Given the description of an element on the screen output the (x, y) to click on. 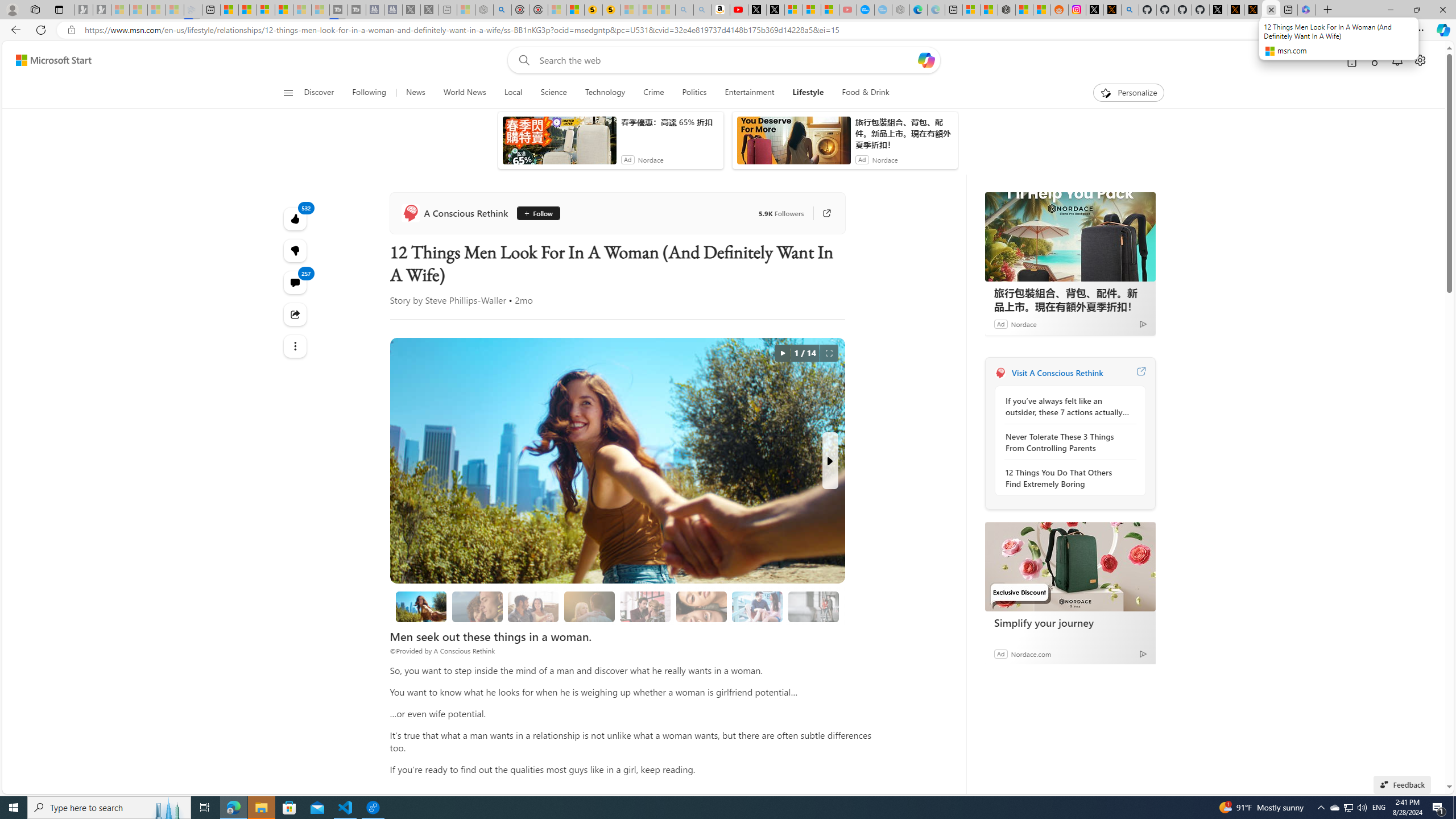
Shanghai, China Weather trends | Microsoft Weather (1041, 9)
Nordace - Nordace has arrived Hong Kong - Sleeping (900, 9)
Technology (604, 92)
Politics (694, 92)
Login | Microsoft 365 (1306, 9)
X Privacy Policy (1253, 9)
anim-content (793, 144)
Crime (653, 92)
World News (464, 92)
4. She is supportive. (644, 606)
